Given the description of an element on the screen output the (x, y) to click on. 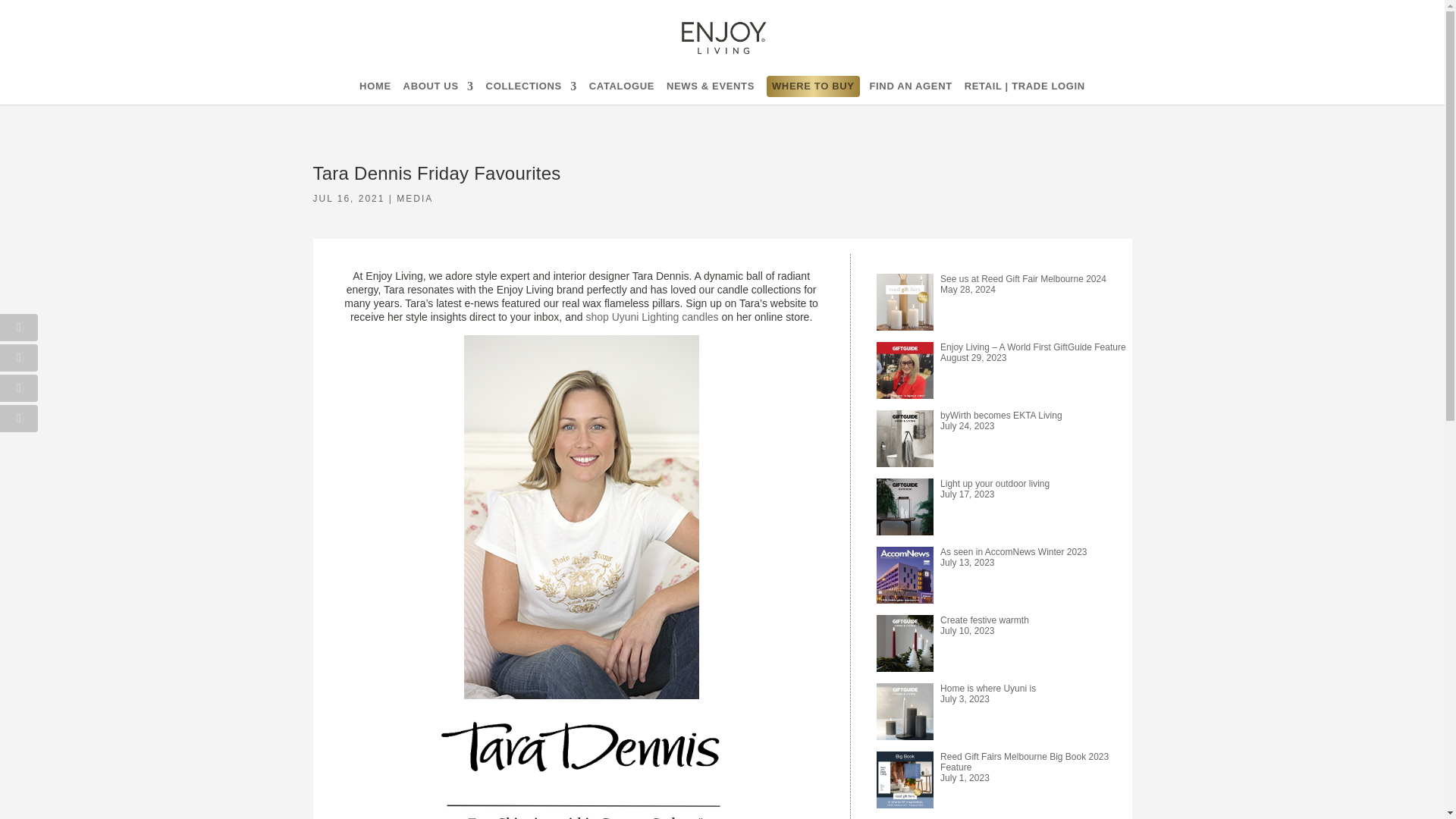
Tara Dennis Header Logo (581, 747)
HOME (375, 86)
COLLECTIONS (531, 86)
ABOUT US (438, 86)
Free Shipping on Tara Dennis's Online Shop  (581, 805)
FIND AN AGENT (910, 86)
WHERE TO BUY (812, 86)
CATALOGUE (621, 86)
